Given the description of an element on the screen output the (x, y) to click on. 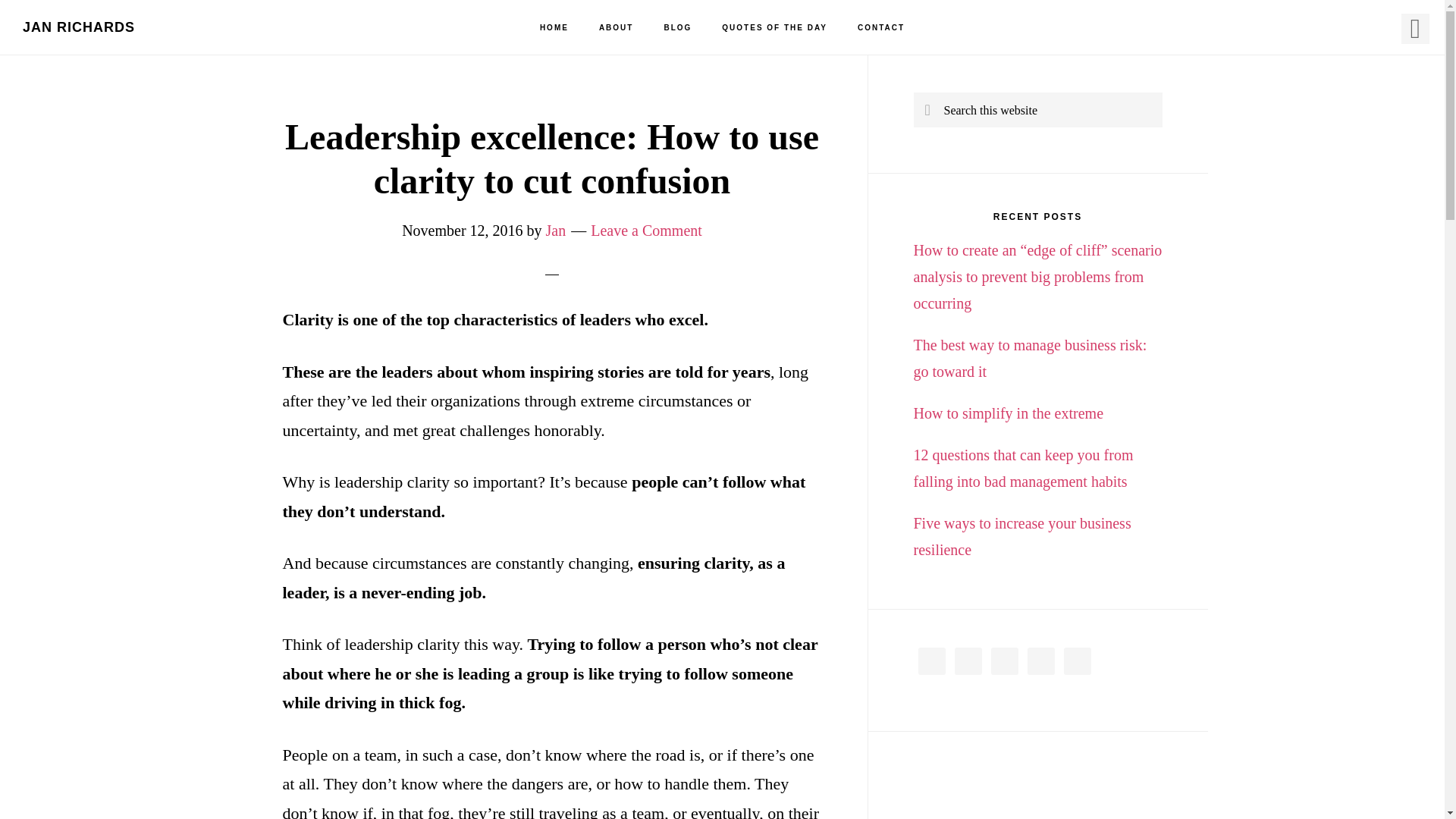
The best way to manage business risk: go toward it (1029, 358)
Five ways to increase your business resilience (1021, 536)
HOME (553, 27)
ABOUT (616, 27)
JAN RICHARDS (79, 27)
How to simplify in the extreme (1007, 412)
BLOG (676, 27)
Leave a Comment (646, 230)
